Given the description of an element on the screen output the (x, y) to click on. 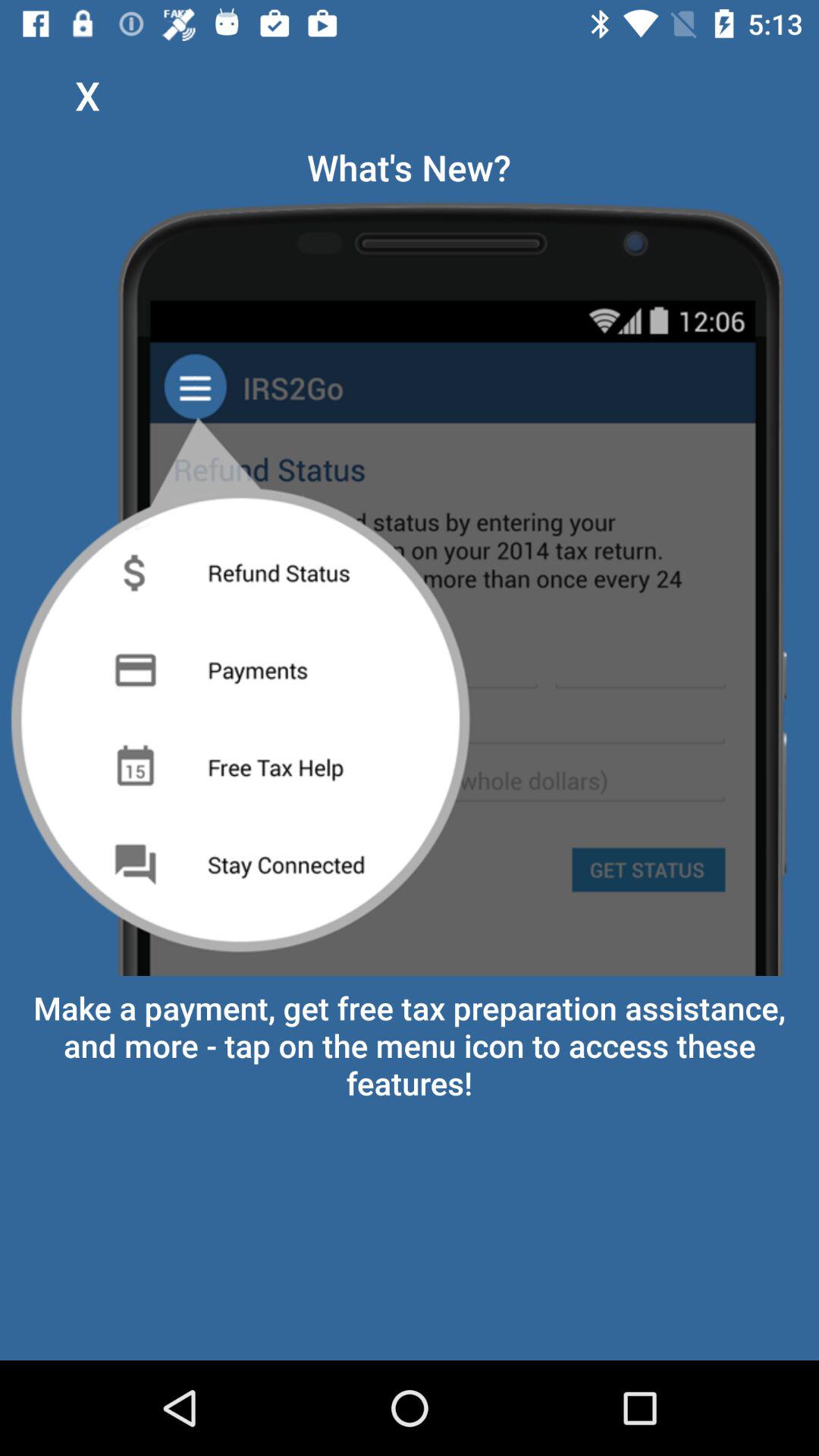
click the icon next to what's new? item (87, 95)
